Given the description of an element on the screen output the (x, y) to click on. 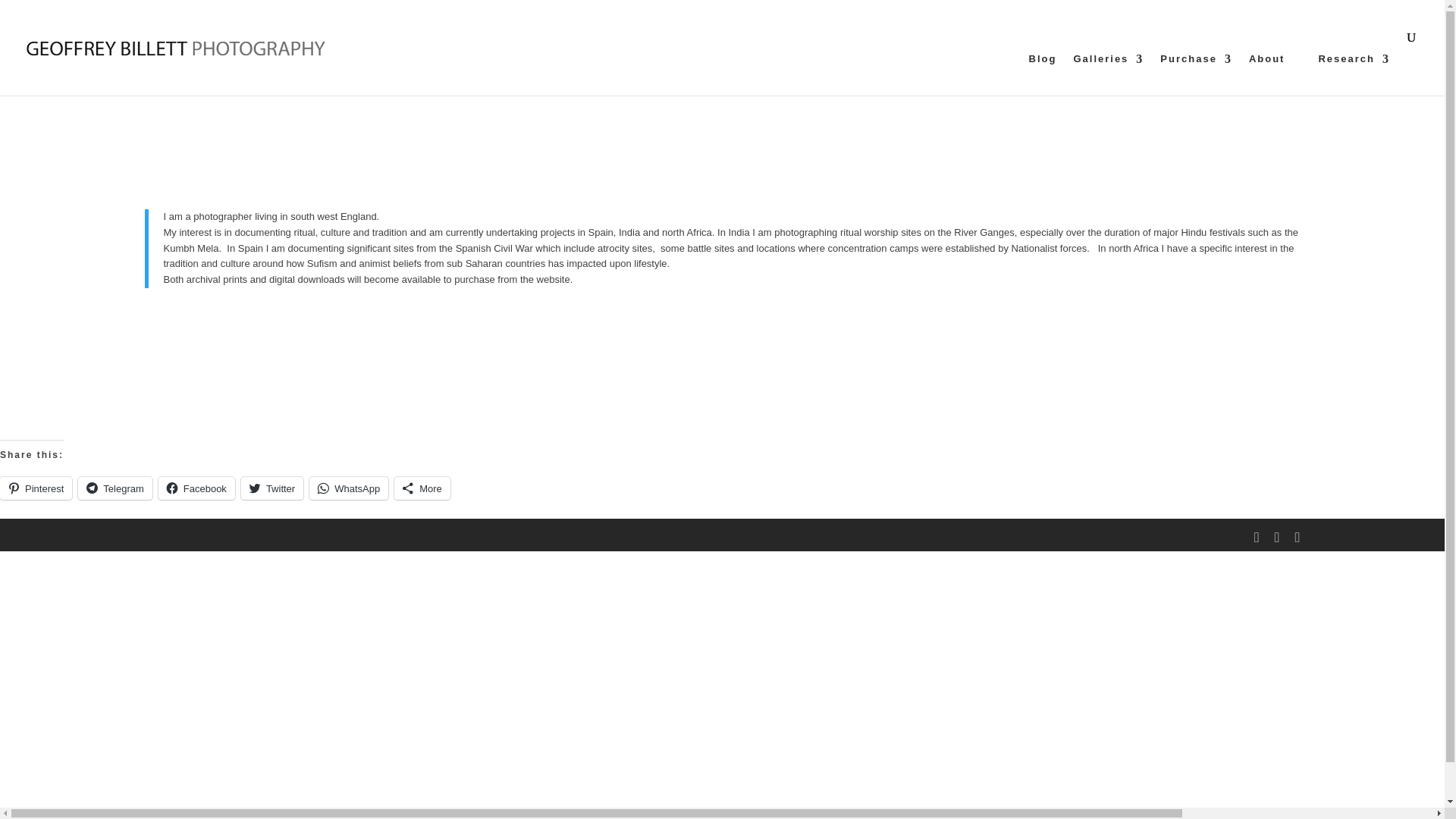
Galleries (1107, 74)
Click to share on Facebook (196, 487)
Click to share on Telegram (114, 487)
Purchase (1195, 74)
Click to share on Pinterest (35, 487)
Research (1353, 74)
Click to share on WhatsApp (348, 487)
Click to share on Twitter (271, 487)
